Given the description of an element on the screen output the (x, y) to click on. 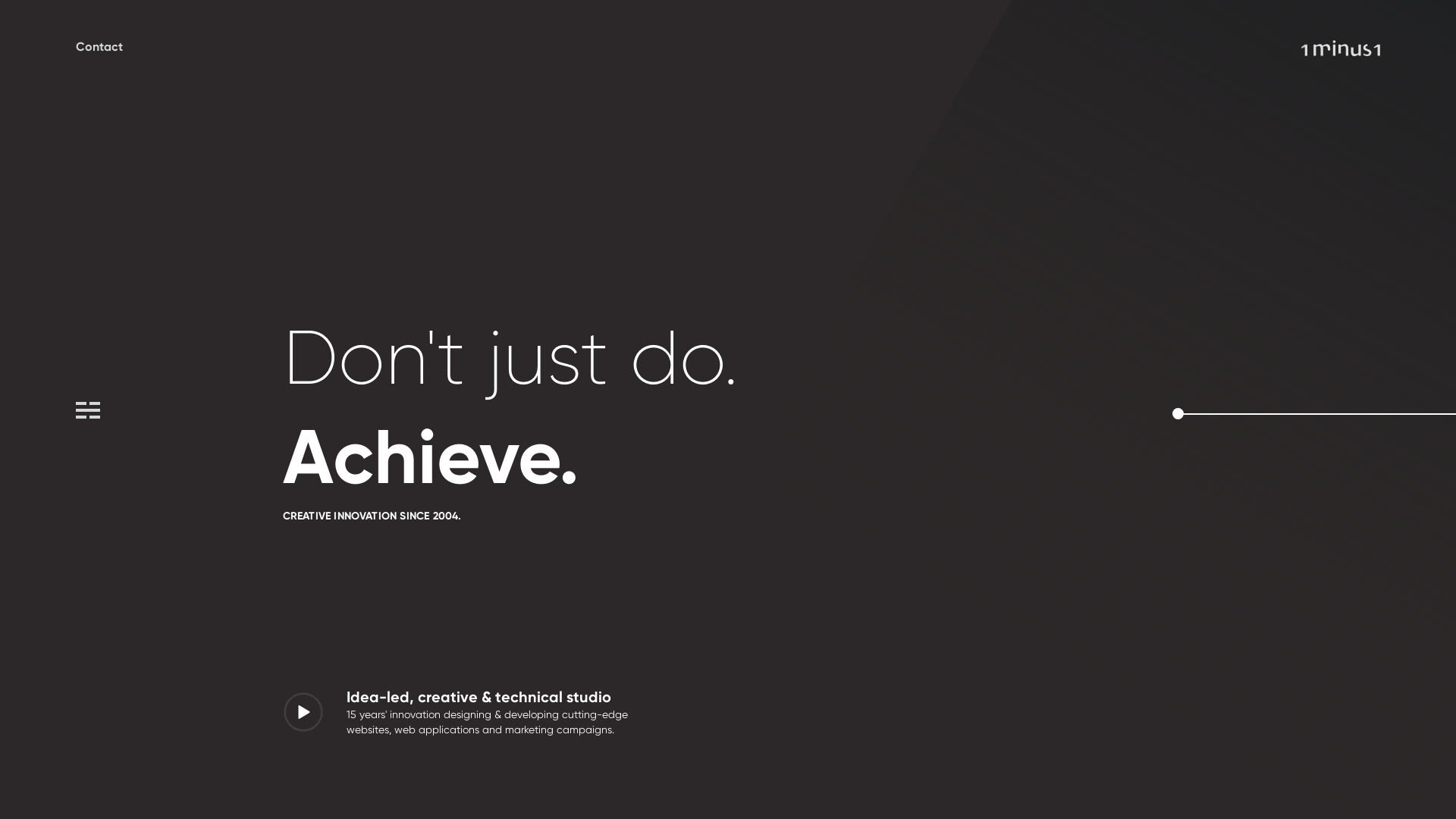
Contact Element type: text (98, 46)
